Given the description of an element on the screen output the (x, y) to click on. 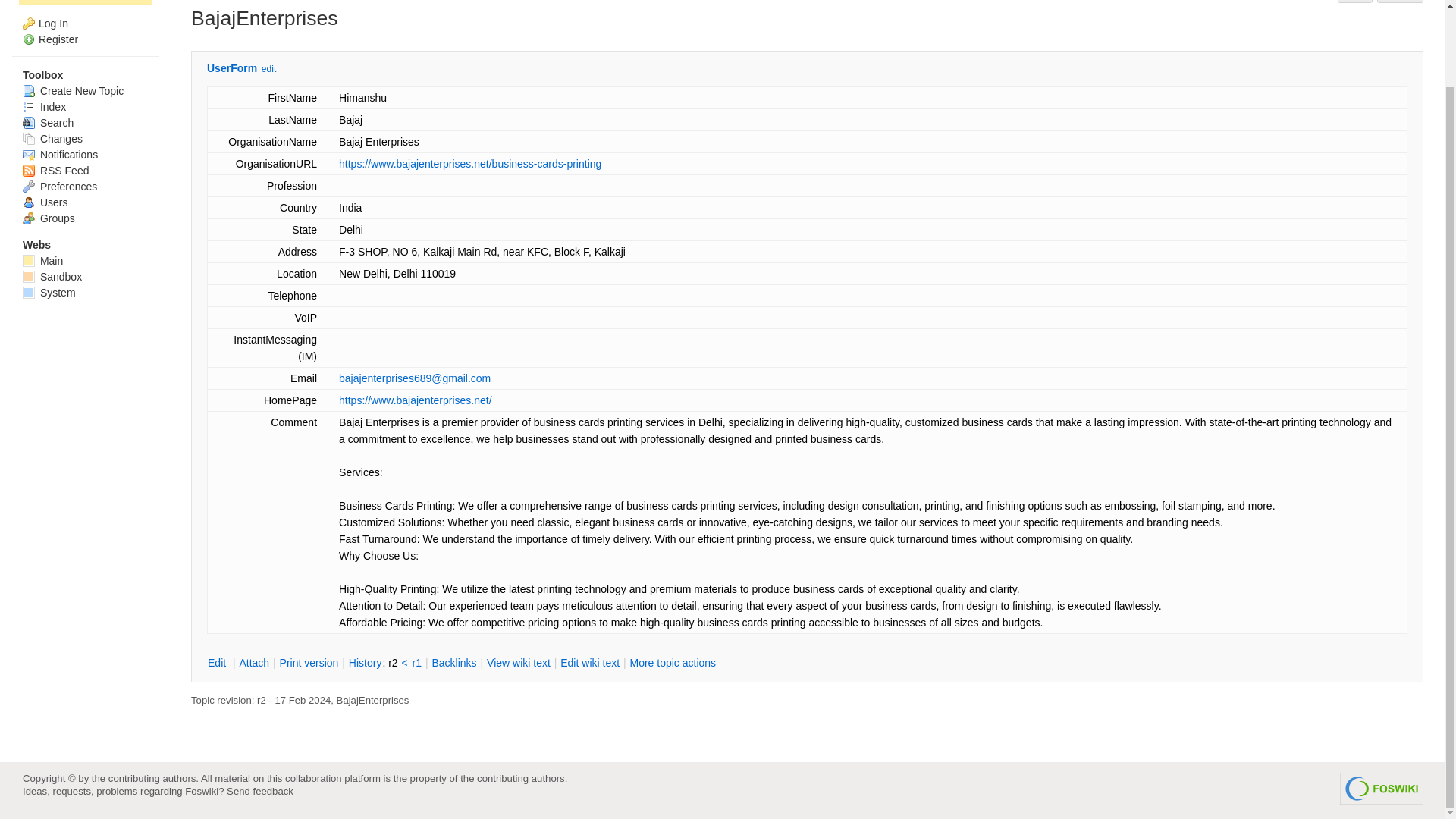
 Main (42, 260)
Index (44, 105)
Groups (49, 218)
r1 (417, 663)
Attach (1400, 1)
Attach (253, 663)
Edit wiki text (589, 663)
Search the Main Web for topics that link to here (453, 663)
Printable version of this topic (309, 663)
Preferences (60, 186)
Edit (218, 663)
Edit Wiki text (589, 663)
Attach an image or document to this topic (253, 663)
UserForm (231, 68)
View without formatting (518, 663)
